Given the description of an element on the screen output the (x, y) to click on. 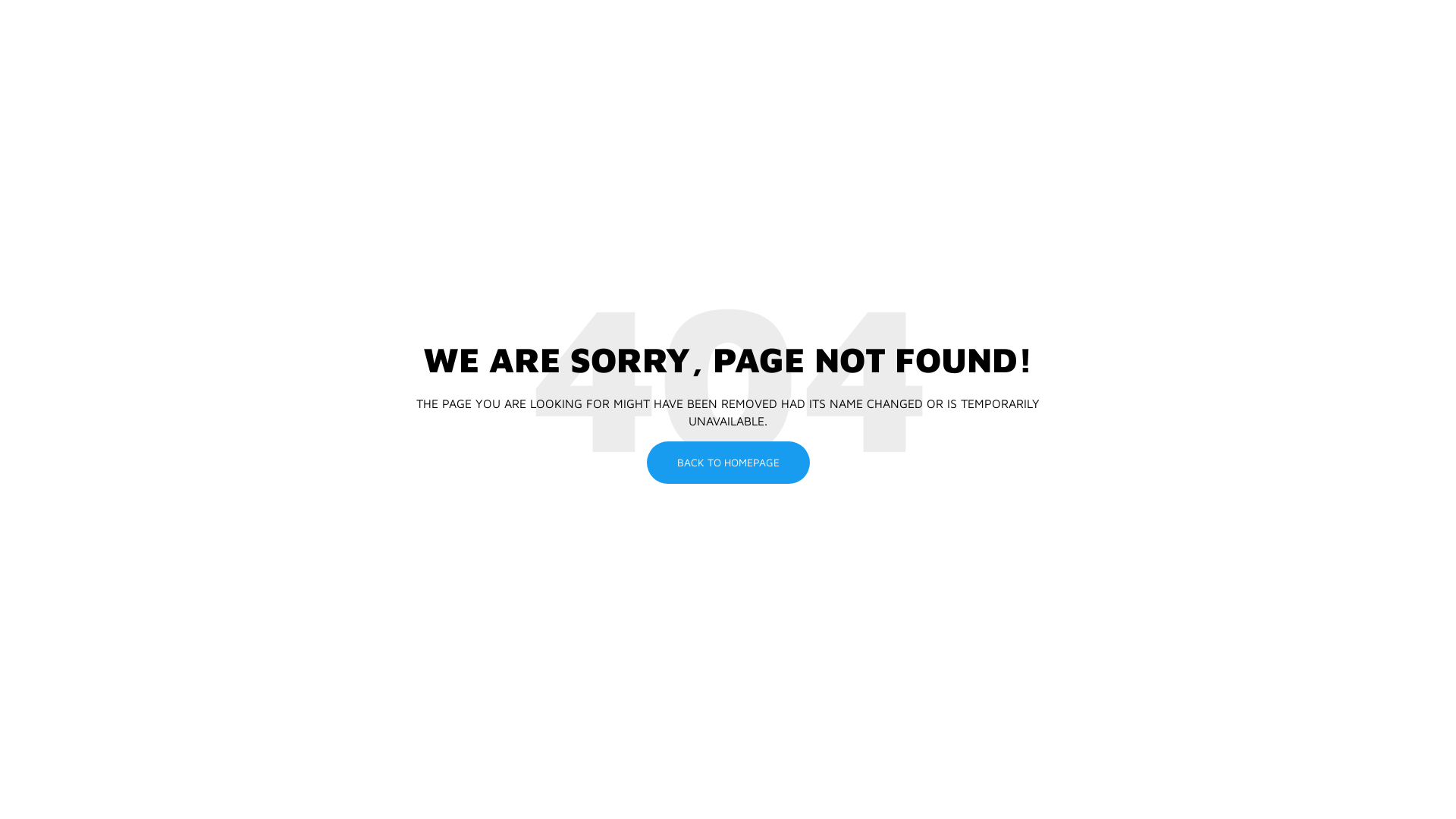
BACK TO HOMEPAGE Element type: text (727, 462)
